Given the description of an element on the screen output the (x, y) to click on. 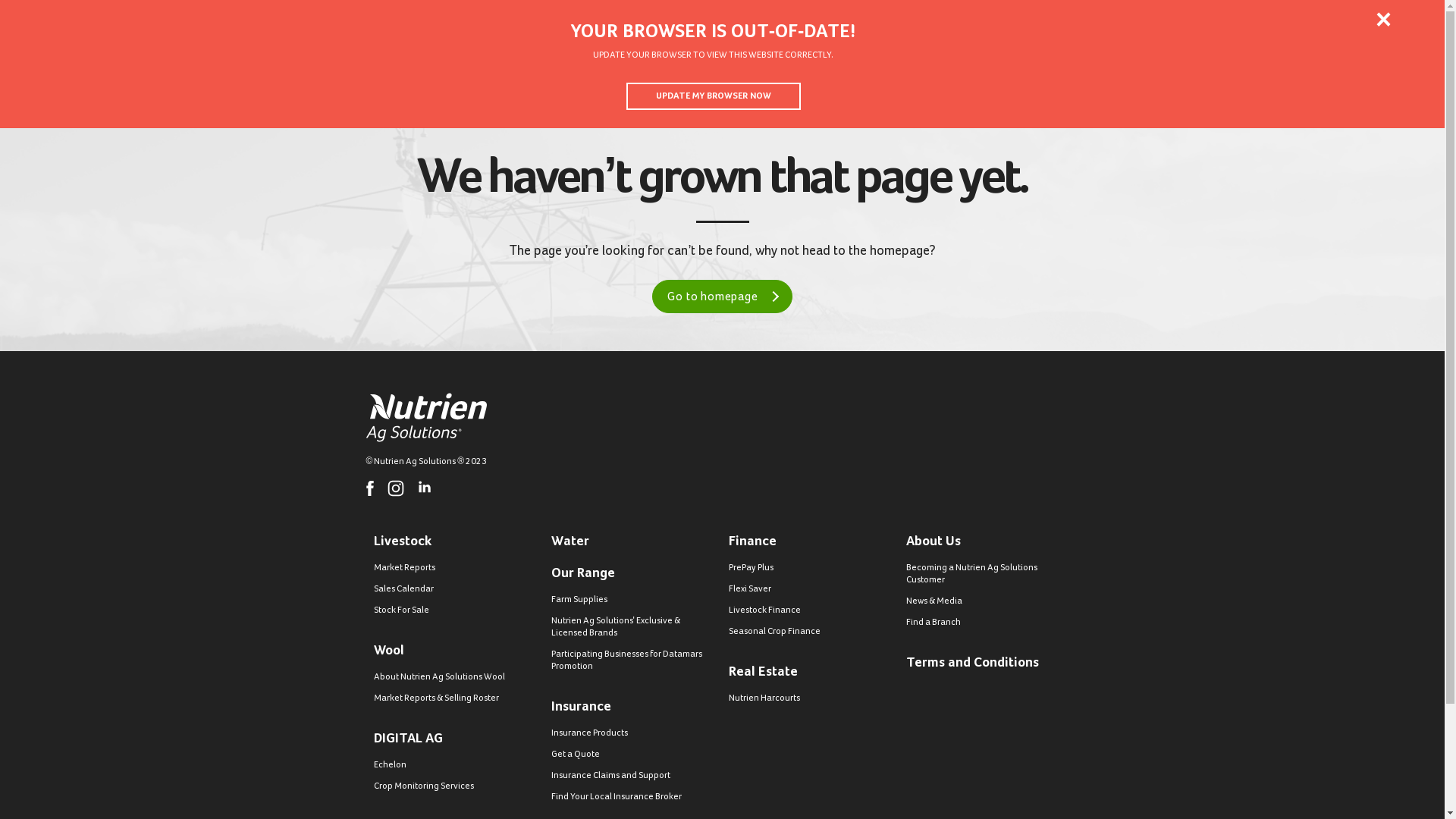
Echelon Element type: text (455, 765)
Terms and Conditions Element type: text (987, 662)
About Us Element type: text (1104, 18)
Real Estate Element type: text (810, 671)
Water Element type: text (918, 75)
Digital Ag Element type: text (995, 75)
Insurance Element type: text (632, 706)
Wool Element type: text (852, 75)
Insurance Element type: text (1170, 75)
Market Reports Element type: text (455, 567)
Get a Quote Element type: text (632, 754)
Becoming a Nutrien Ag Solutions Customer Element type: text (987, 573)
News & Media Element type: text (987, 601)
Find a Branch Element type: text (987, 622)
Find a branch Element type: text (1359, 18)
Livestock Element type: text (455, 541)
Careers Element type: text (1184, 18)
Water Element type: text (632, 541)
Find Your Local Insurance Broker Element type: text (632, 796)
Clearing Sale Element type: text (1398, 75)
Participating Businesses for Datamars Promotion Element type: text (632, 660)
DIGITAL AG Element type: text (455, 738)
Seasonal Crop Finance Element type: text (810, 631)
Login to Digital Hub Element type: text (81, 18)
Our Range Element type: text (1082, 75)
Go to homepage Element type: text (722, 296)
Nutrien Harcourts Element type: text (810, 698)
About Nutrien Ag Solutions Wool Element type: text (455, 677)
Livestock Element type: text (777, 75)
Stock For Sale Element type: text (455, 610)
UPDATE MY BROWSER NOW Element type: text (713, 95)
Login to MyNutrien Element type: text (226, 18)
About Us Element type: text (987, 541)
Crop Monitoring Services Element type: text (455, 786)
Wool Element type: text (455, 650)
Finance Element type: text (810, 541)
Sales Calendar Element type: text (455, 589)
Insurance Products Element type: text (632, 733)
Real Estate Element type: text (1324, 75)
Our Range Element type: text (632, 572)
PrePay Plus Element type: text (810, 567)
Insurance Claims and Support Element type: text (632, 775)
Livestock Finance Element type: text (810, 610)
Finance Element type: text (1251, 75)
Farm Supplies Element type: text (632, 599)
Market Reports & Selling Roster Element type: text (455, 698)
Flexi Saver Element type: text (810, 589)
Nutrien Ag Solutions' Exclusive & Licensed Brands Element type: text (632, 627)
